Given the description of an element on the screen output the (x, y) to click on. 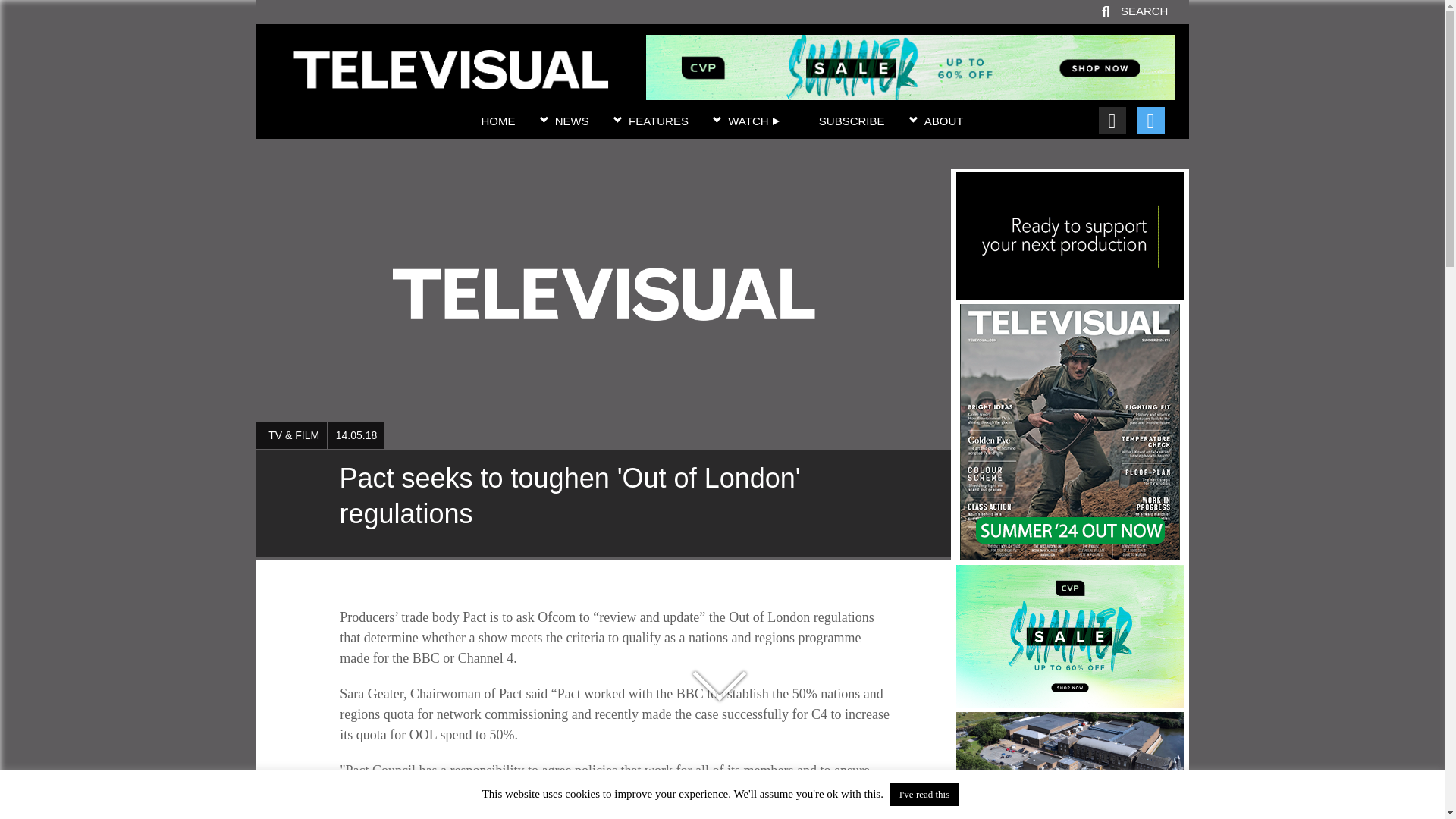
NEWS (571, 121)
Pact seeks to toughen 'Out of London' regulations (603, 503)
HOME (497, 121)
WATCH (753, 121)
FEATURES (658, 121)
ABOUT (943, 121)
14.05.18 (356, 434)
SUBSCRIBE (851, 121)
